Given the description of an element on the screen output the (x, y) to click on. 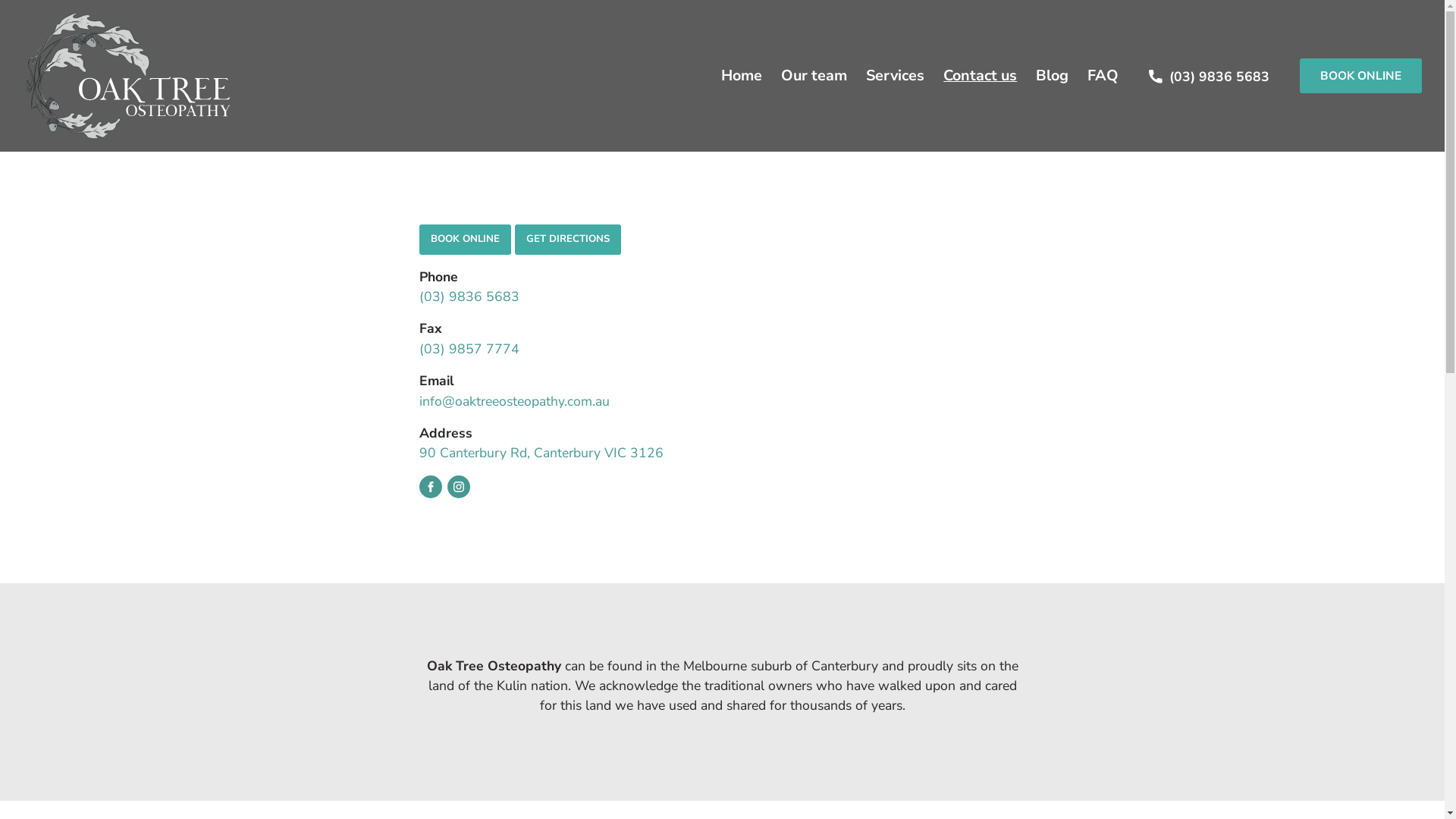
Contact us Element type: text (979, 75)
BOOK ONLINE Element type: text (1360, 75)
Blog Element type: text (1051, 75)
Services Element type: text (895, 75)
info@oaktreeosteopathy.com.au Element type: text (513, 401)
Our team Element type: text (814, 75)
(03) 9857 7774 Element type: text (468, 348)
(03) 9836 5683 Element type: text (1208, 75)
Home Element type: text (741, 75)
FAQ Element type: text (1102, 75)
(03) 9836 5683 Element type: text (468, 296)
GET DIRECTIONS Element type: text (567, 239)
90 Canterbury Rd, Canterbury VIC 3126 Element type: text (540, 452)
BOOK ONLINE Element type: text (464, 239)
